Given the description of an element on the screen output the (x, y) to click on. 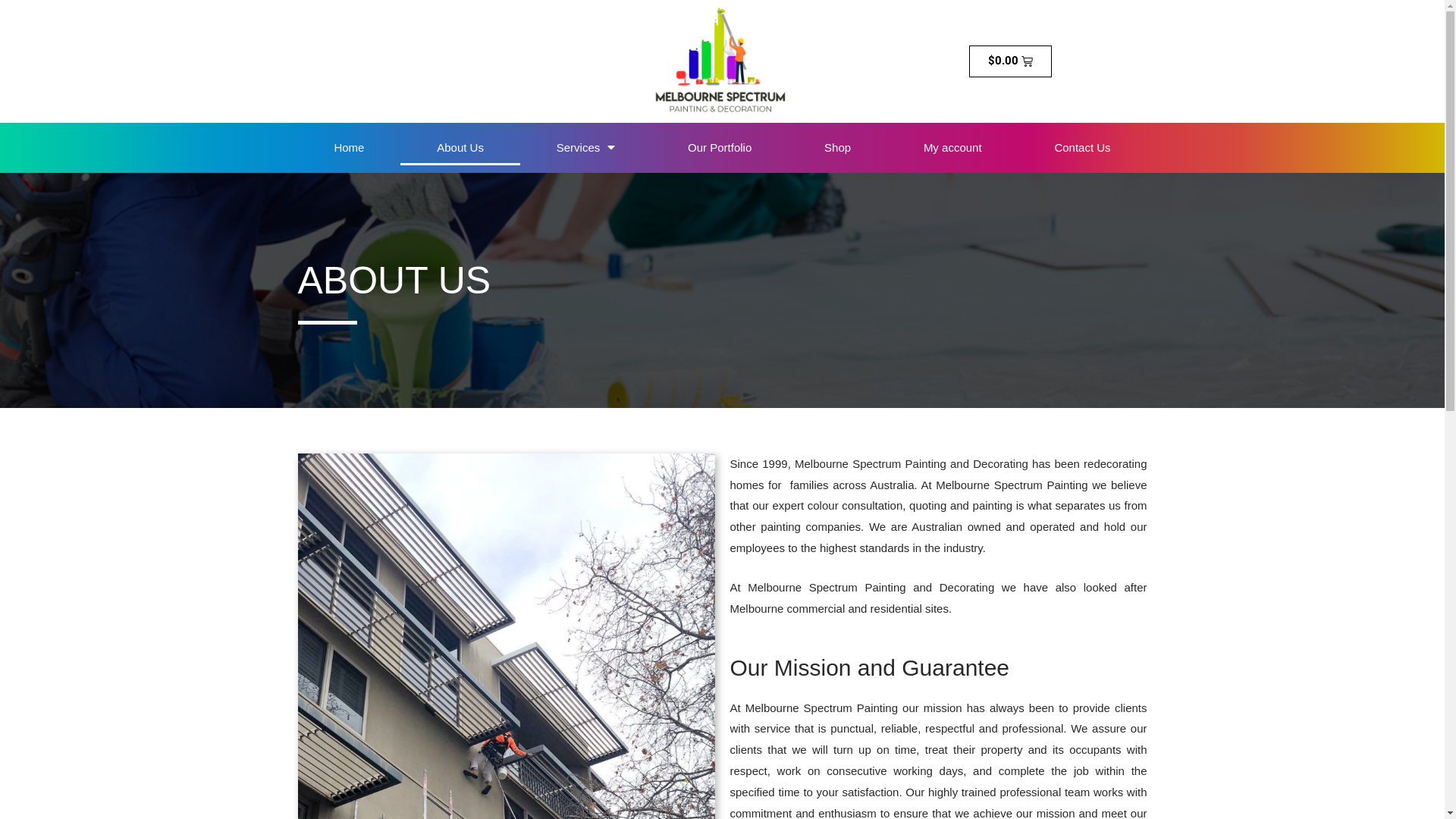
Shop Element type: text (837, 147)
About Us Element type: text (460, 147)
Home Element type: text (348, 147)
Services Element type: text (585, 147)
Our Portfolio Element type: text (719, 147)
$0.00 Element type: text (1010, 61)
Contact Us Element type: text (1081, 147)
My account Element type: text (952, 147)
